Given the description of an element on the screen output the (x, y) to click on. 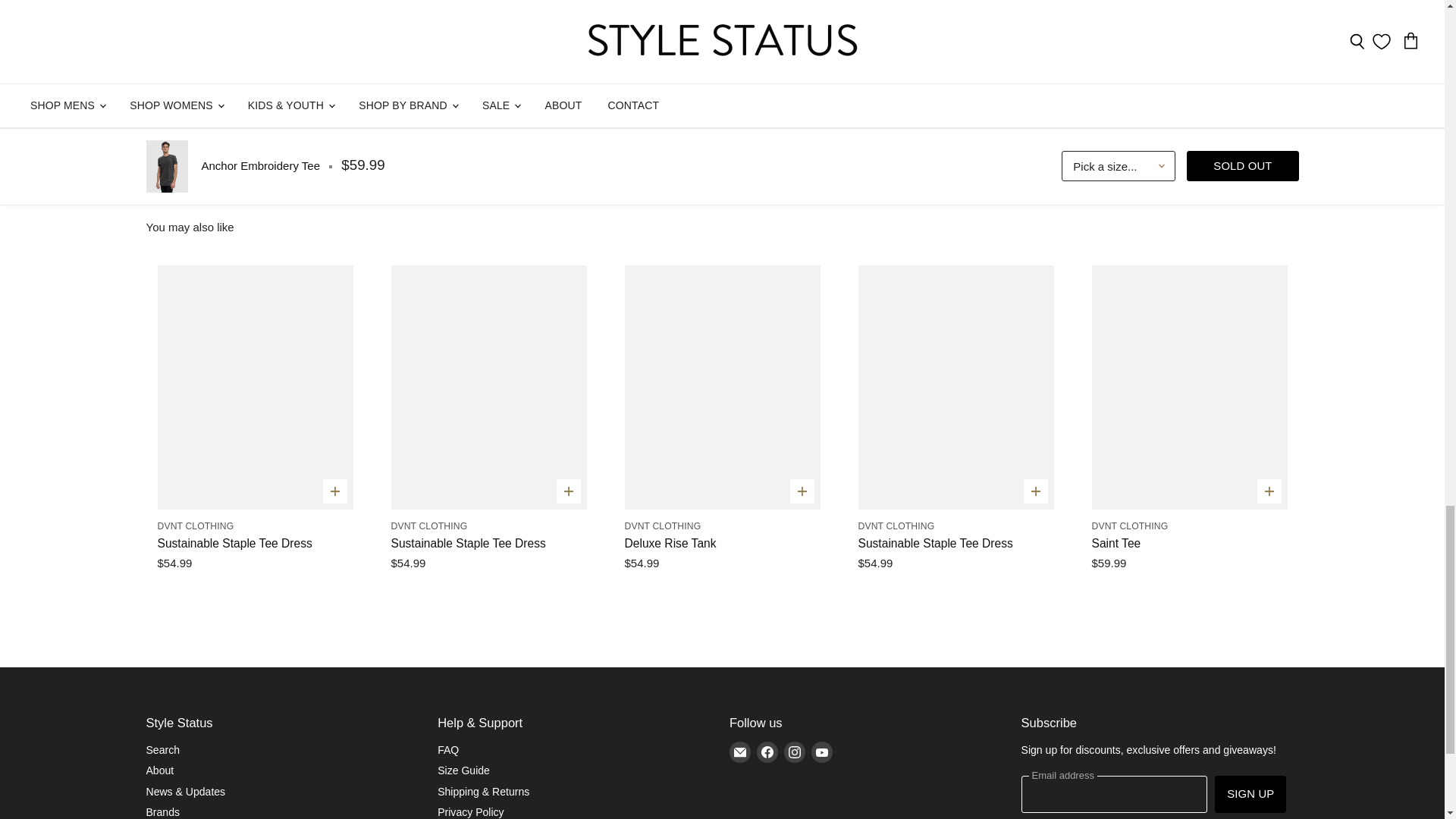
Facebook (767, 751)
YouTube (821, 751)
Instagram (794, 751)
E-mail (740, 751)
